Given the description of an element on the screen output the (x, y) to click on. 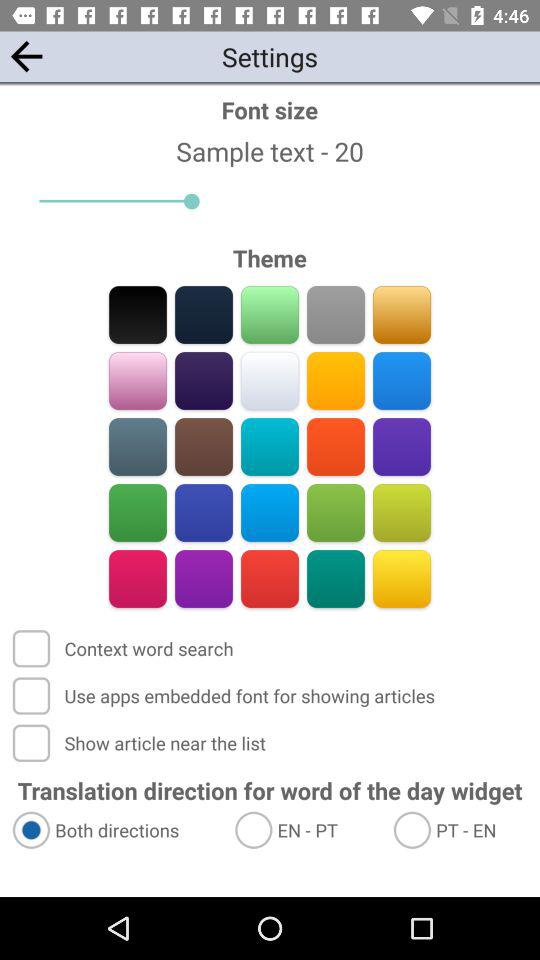
flip to the both directions icon (114, 829)
